Given the description of an element on the screen output the (x, y) to click on. 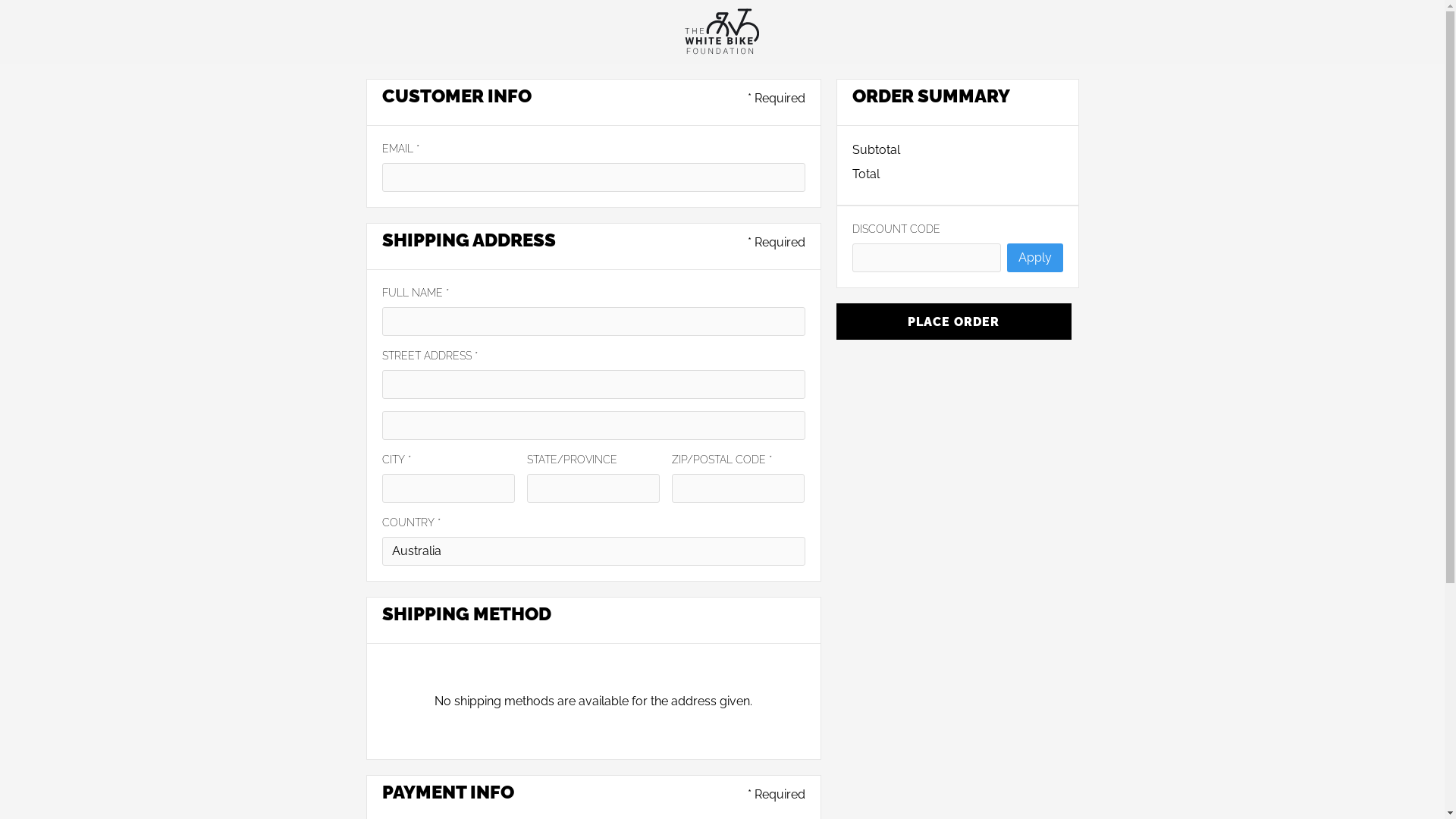
Apply Element type: text (1035, 257)
PLACE ORDER Element type: text (952, 321)
